Given the description of an element on the screen output the (x, y) to click on. 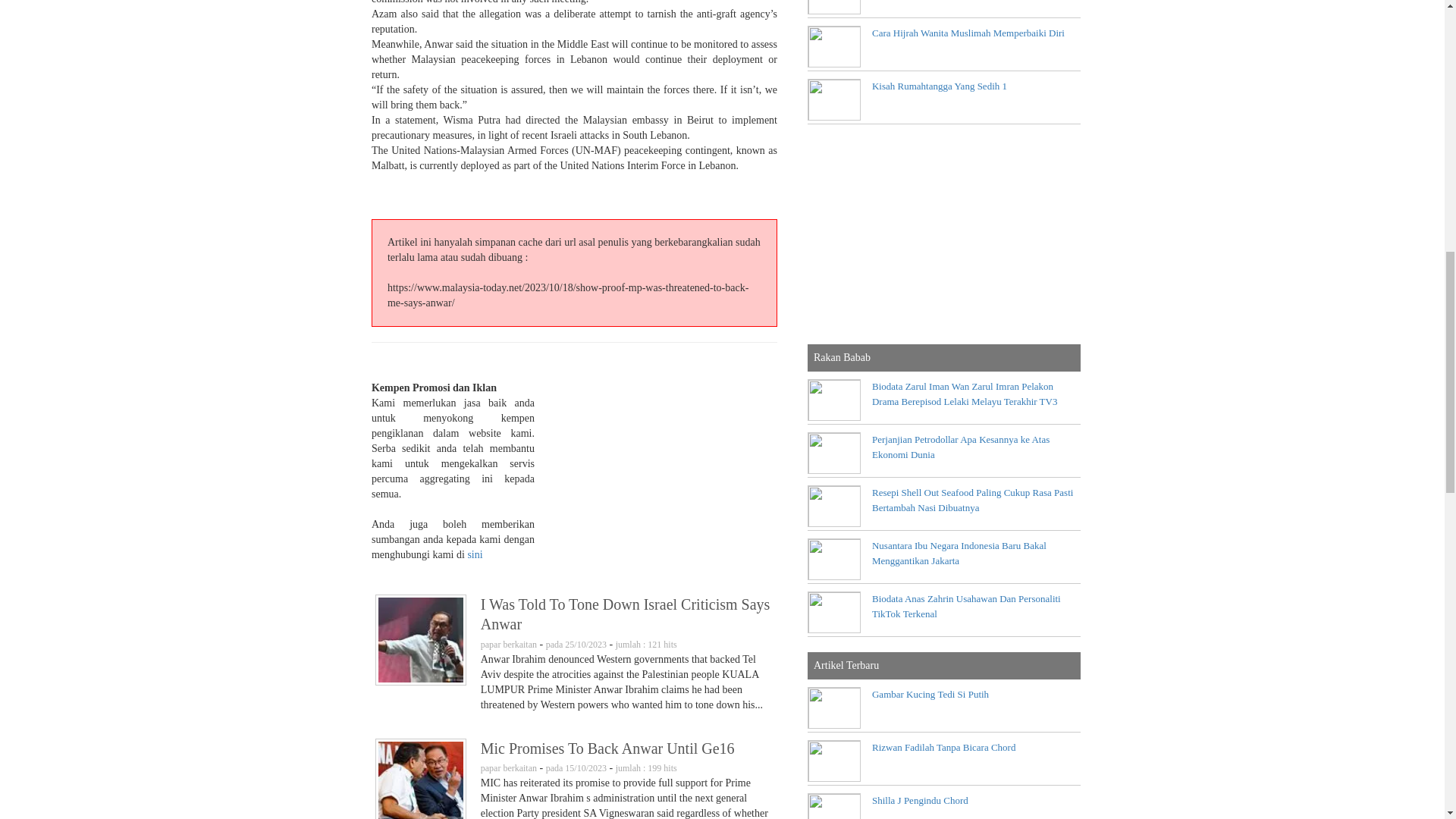
I Was Told To Tone Down Israel Criticism Says Anwar (626, 622)
papar berkaitan (508, 644)
jumlah : 199 hits (646, 767)
papar berkaitan (508, 767)
jumlah : 121 hits (646, 644)
Mic Promises To Back Anwar Until Ge16 (626, 755)
I Was Told To Tone Down Israel Criticism Says Anwar (420, 639)
Mic Promises To Back Anwar Until Ge16 (420, 778)
sini (474, 554)
